Given the description of an element on the screen output the (x, y) to click on. 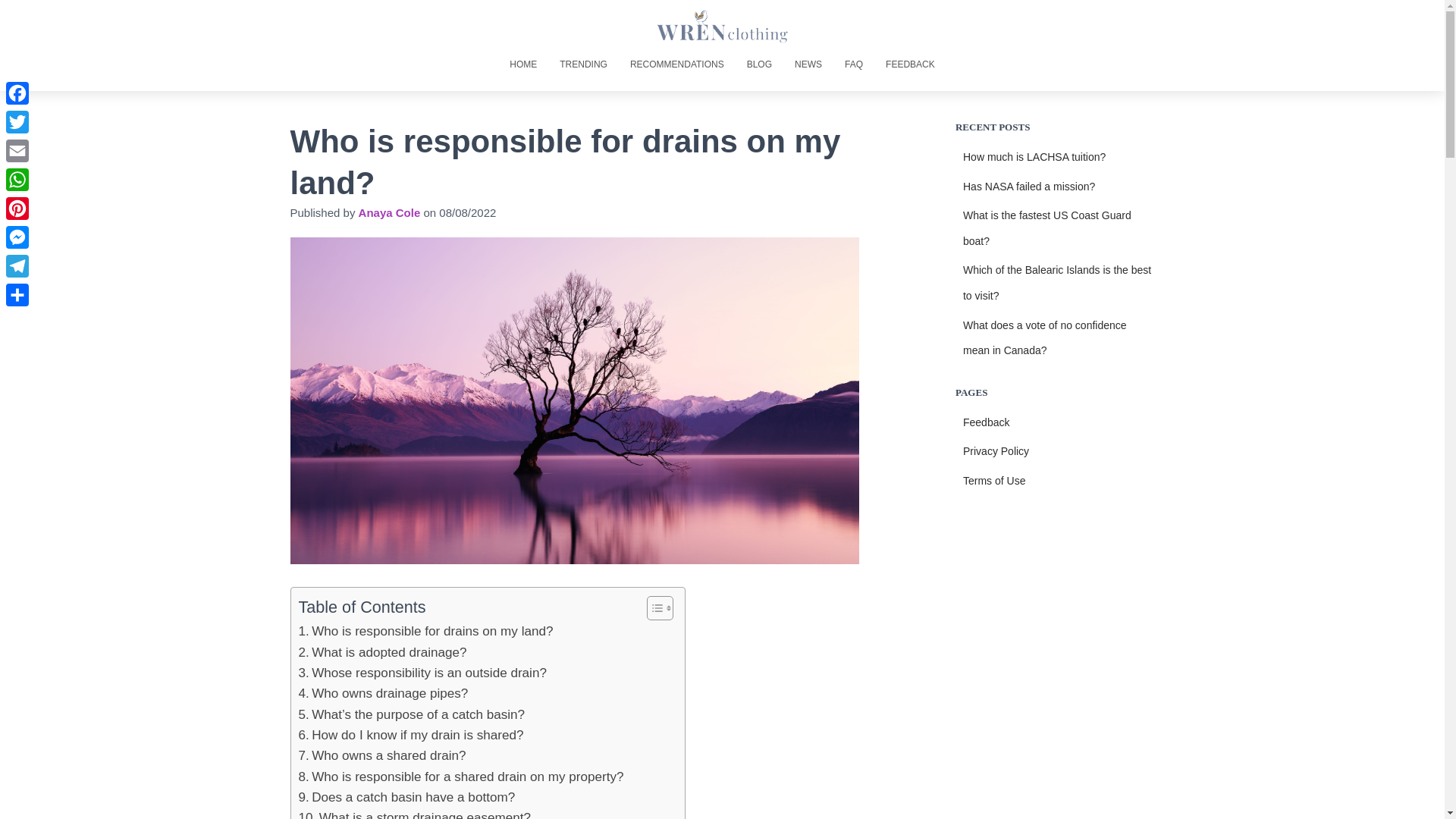
How much is LACHSA tuition? (1033, 156)
Recommendations (676, 64)
Home (522, 64)
wren-clothing.com (722, 26)
Whose responsibility is an outside drain? (422, 672)
Trending (583, 64)
Who is responsible for a shared drain on my property? (461, 776)
News (807, 64)
Whose responsibility is an outside drain? (422, 672)
What is the fastest US Coast Guard boat? (1046, 228)
